Given the description of an element on the screen output the (x, y) to click on. 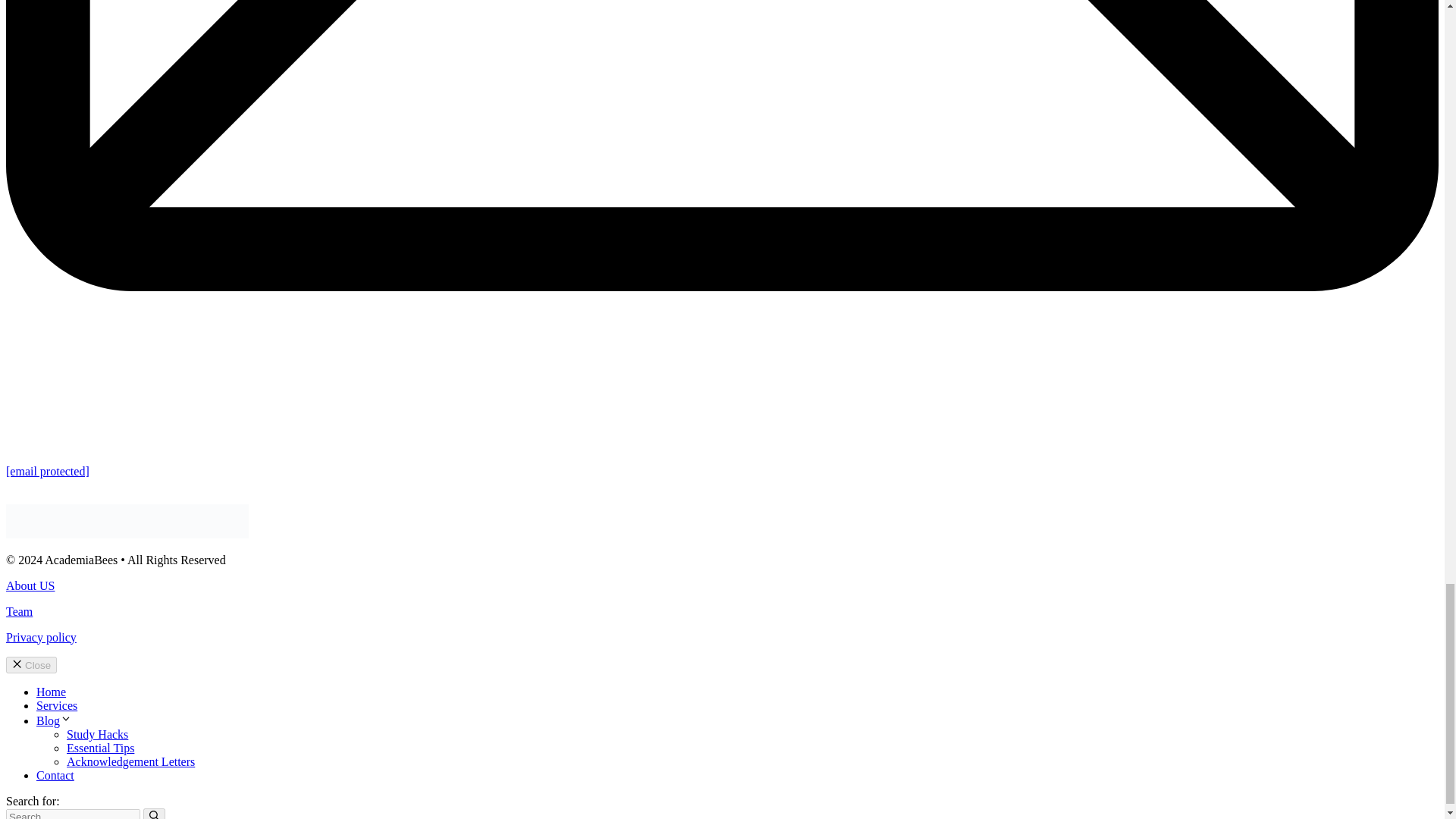
Home (50, 691)
Essential Tips (99, 748)
About US (30, 585)
Contact (55, 775)
Services (56, 705)
Close (30, 664)
Study Hacks (97, 734)
Blog (53, 720)
Team (18, 611)
Acknowledgement Letters (130, 761)
